Given the description of an element on the screen output the (x, y) to click on. 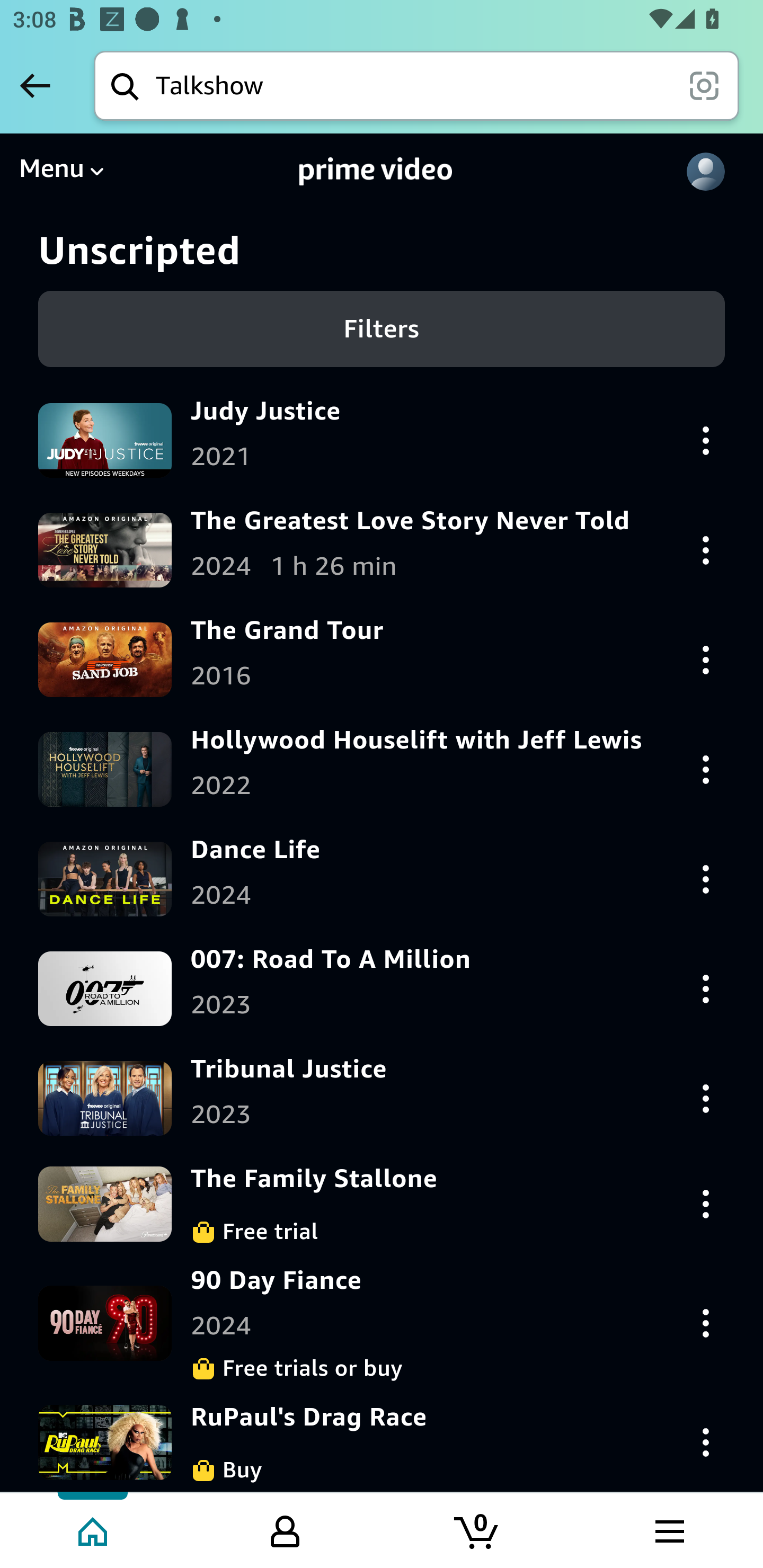
Back (35, 85)
Search Search Talkshow scan it (416, 85)
scan it (704, 85)
Menu (61, 171)
Prime Video (376, 171)
Filters (381, 328)
Judy Justice Judy Justice 2021 (381, 439)
The Grand Tour The Grand Tour 2016 (381, 659)
Dance Life Dance Life 2024 (381, 878)
007: Road To A Million 007: Road To A Million 2023 (381, 988)
Tribunal Justice Tribunal Justice 2023 (381, 1098)
The Family Stallone The Family Stallone Free trial (381, 1203)
RuPaul's Drag Race RuPaul's Drag Race Buy (381, 1442)
Home Tab 1 of 4 (94, 1529)
Your Amazon.com Tab 2 of 4 (285, 1529)
Cart 0 item Tab 3 of 4 0 (477, 1529)
Browse menu Tab 4 of 4 (668, 1529)
